Given the description of an element on the screen output the (x, y) to click on. 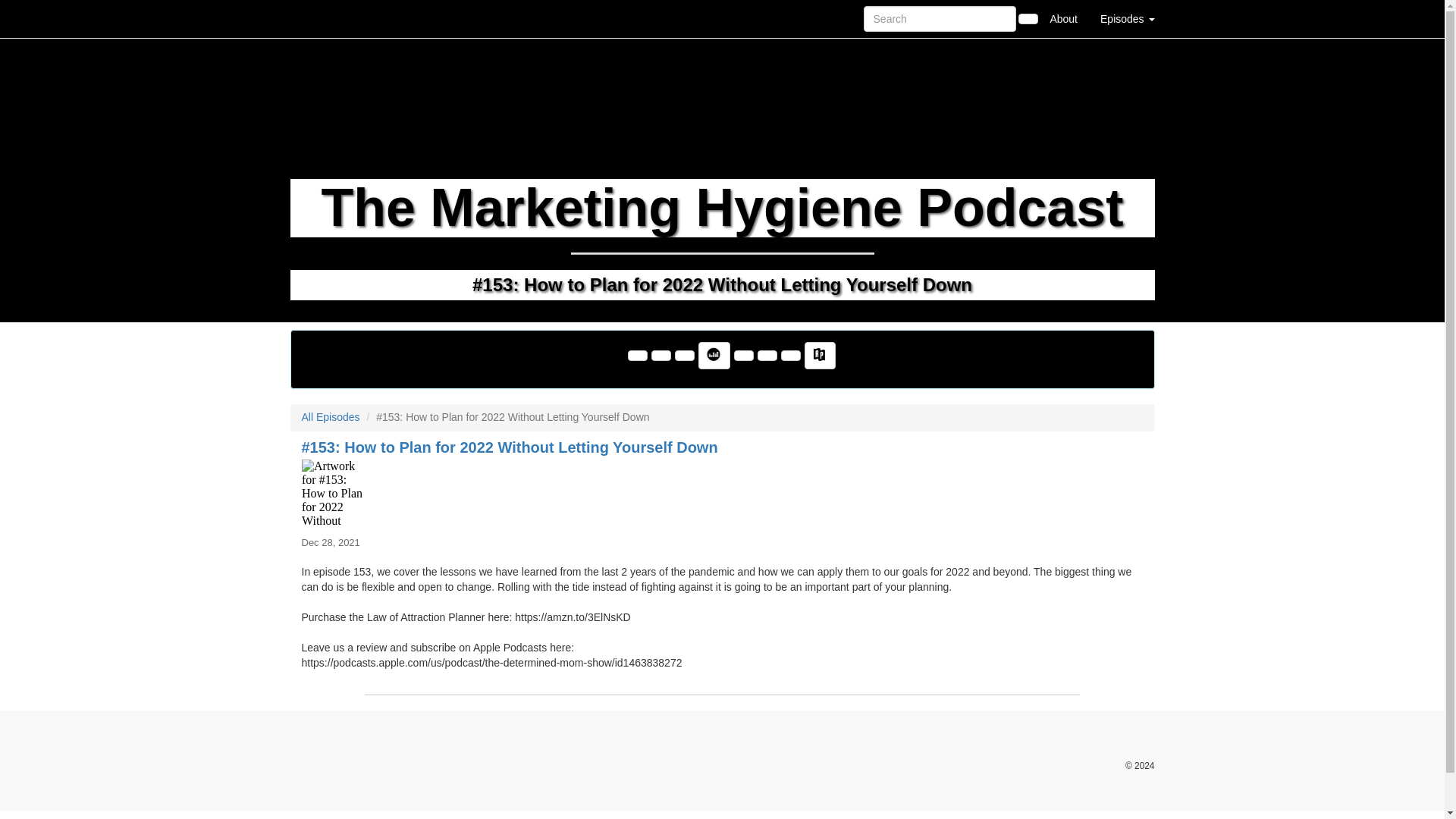
Home Page (320, 18)
Episodes (1127, 18)
About (1063, 18)
